Given the description of an element on the screen output the (x, y) to click on. 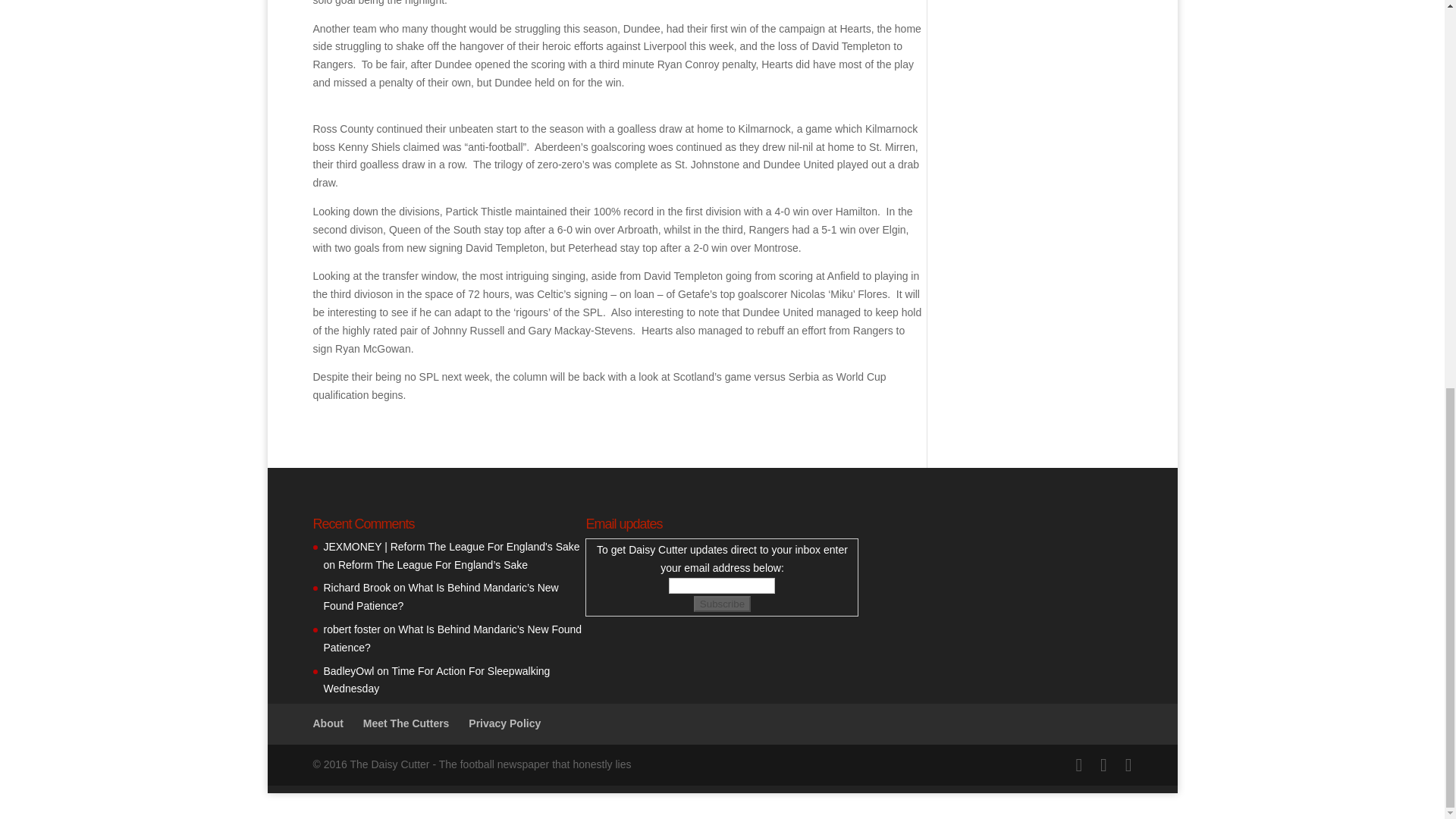
Subscribe (722, 603)
